Given the description of an element on the screen output the (x, y) to click on. 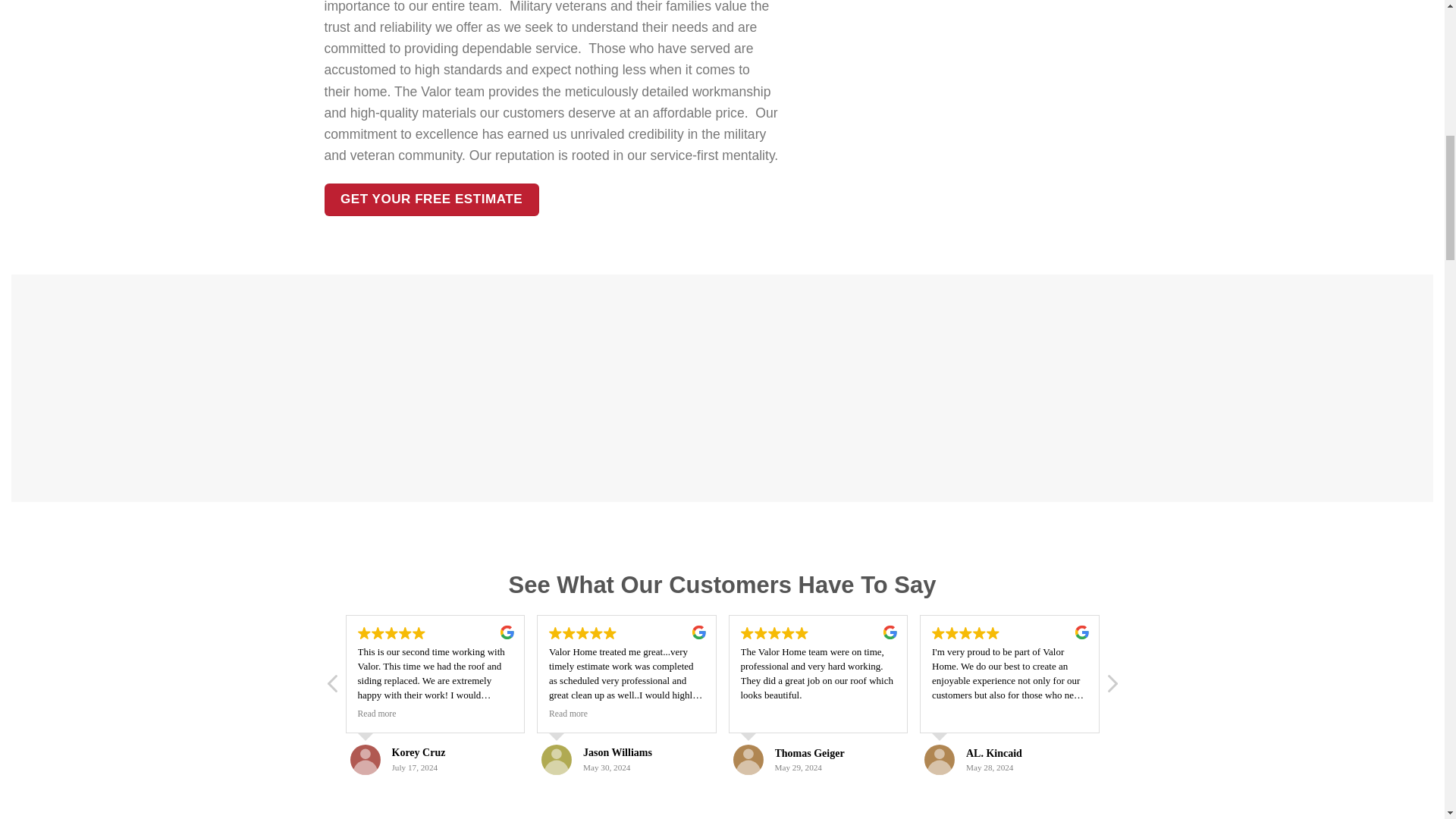
GET YOUR FREE ESTIMATE (431, 199)
Valor Home Flags for Vets (1254, 388)
Valor Home Flags for Vets (544, 388)
Valor Home Flags for Vets (899, 388)
Valor Home Flags for Vets (188, 388)
